Given the description of an element on the screen output the (x, y) to click on. 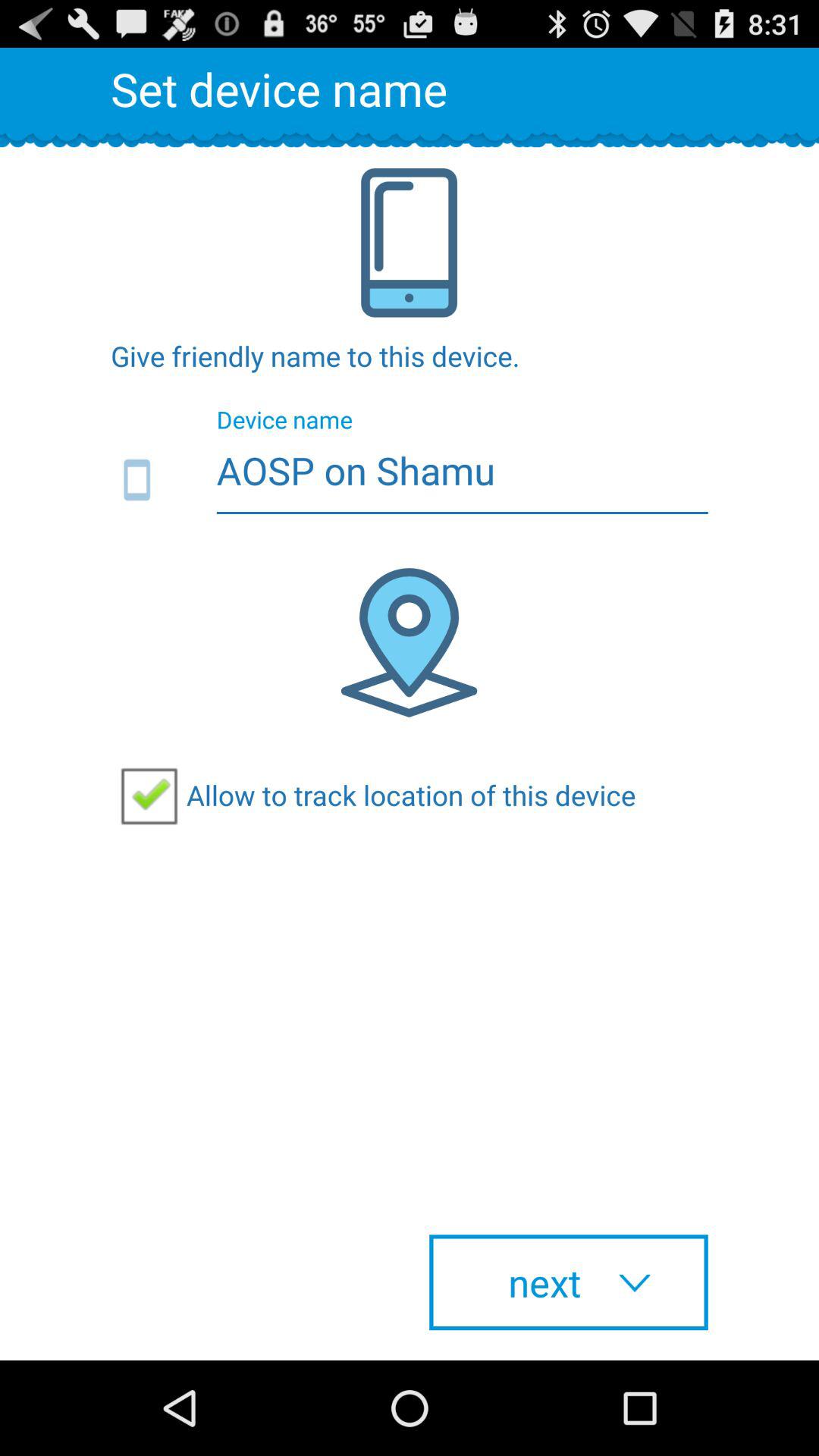
swipe until the next button (568, 1282)
